Given the description of an element on the screen output the (x, y) to click on. 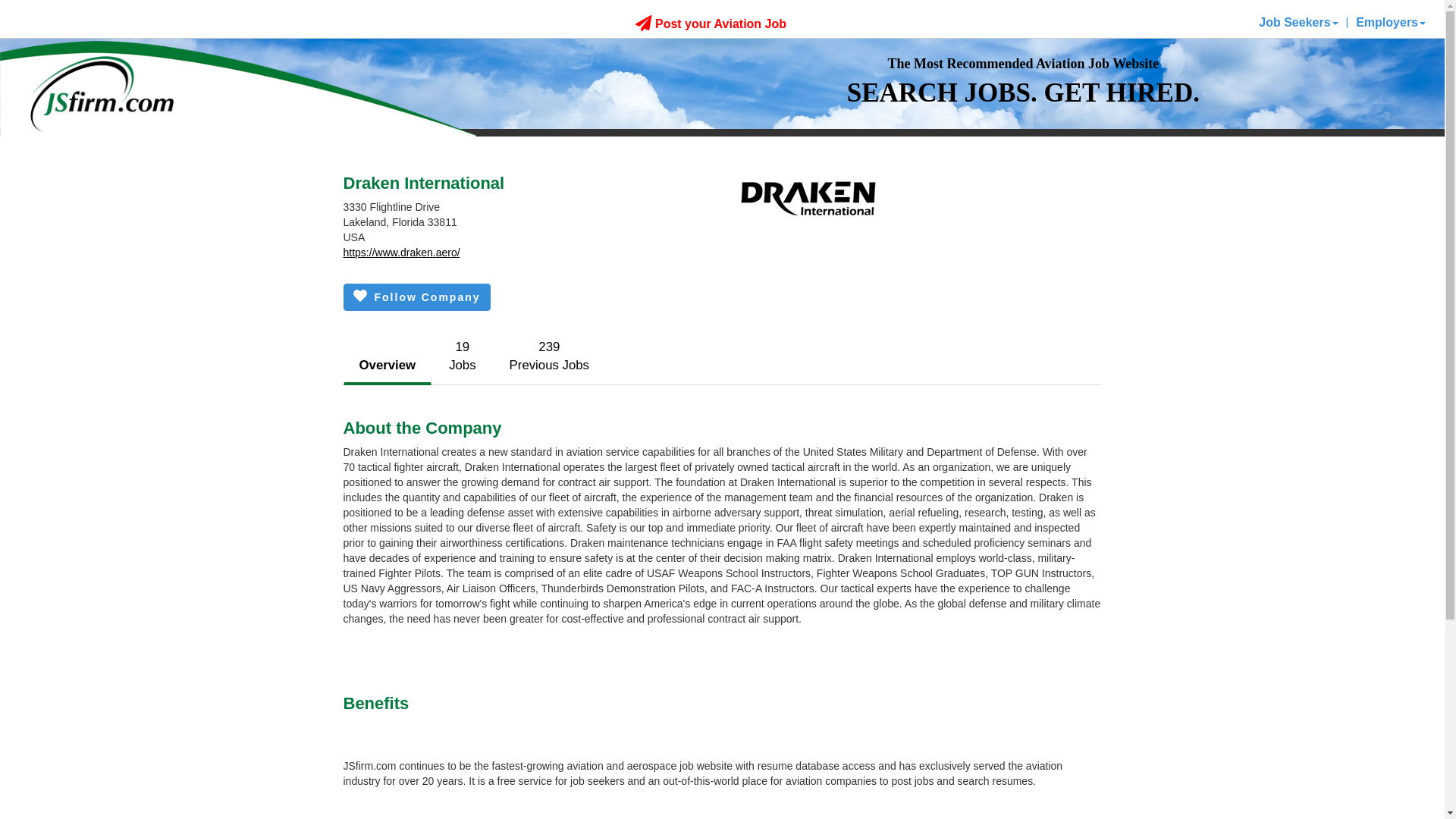
Post your Aviation Job (549, 356)
Follow Company (710, 23)
Overview (415, 297)
Job Seekers (386, 366)
Draken International (462, 356)
Employers (1297, 22)
